Given the description of an element on the screen output the (x, y) to click on. 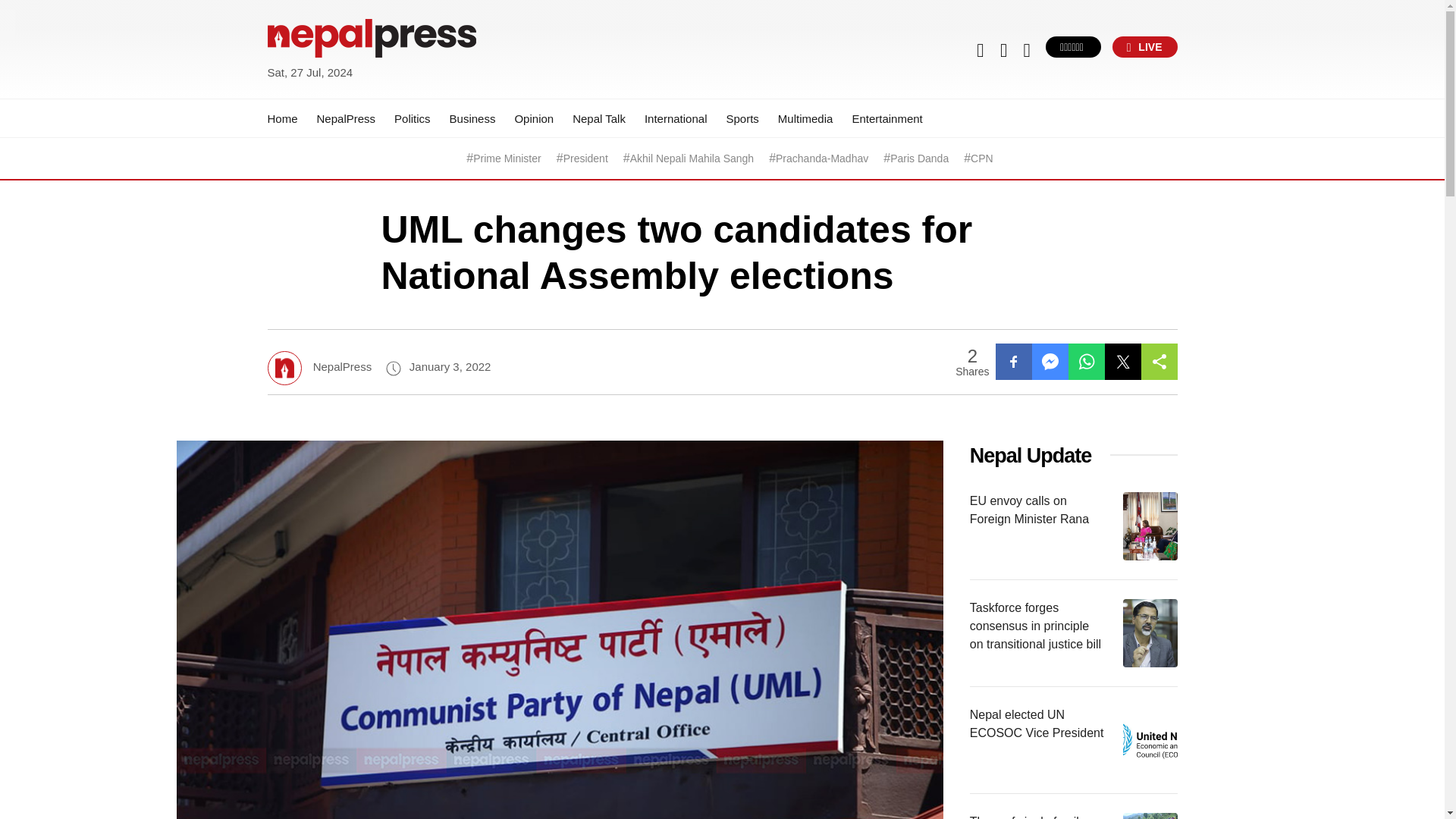
Nepal Press (303, 91)
President (585, 158)
International (676, 118)
Prachanda-Madhav (821, 158)
Business (472, 118)
Politics (412, 118)
CPN (981, 158)
NepalPress (346, 118)
Prime Minister (506, 158)
LIVE (1144, 46)
Paris Danda (919, 158)
Prime Minister (506, 158)
Akhil Nepali Mahila Sangh (692, 158)
Akhil Nepali Mahila Sangh (692, 158)
Nepal Talk (599, 118)
